Given the description of an element on the screen output the (x, y) to click on. 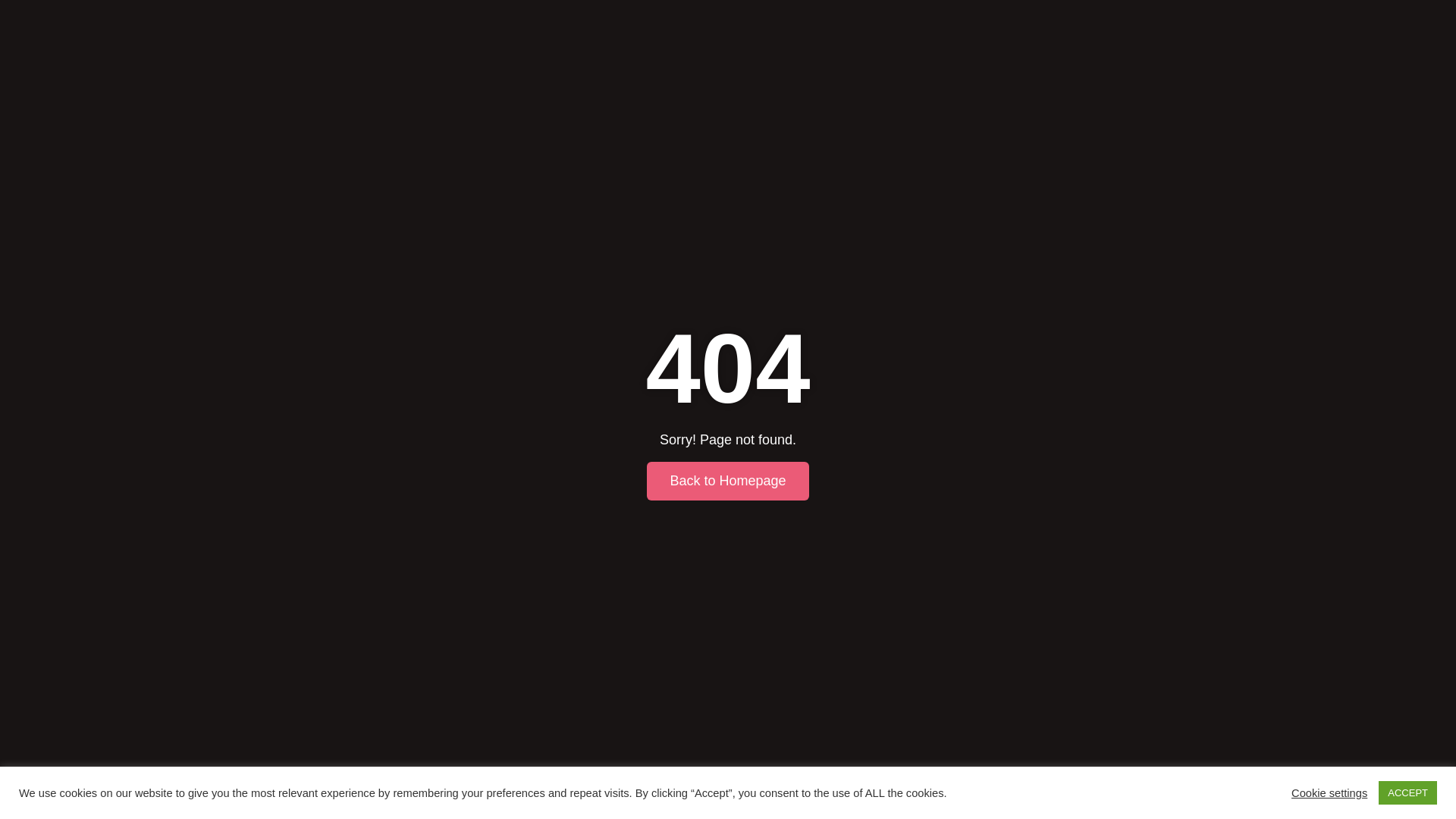
Back to Homepage (727, 480)
ACCEPT (1407, 792)
Cookie settings (1329, 792)
